Given the description of an element on the screen output the (x, y) to click on. 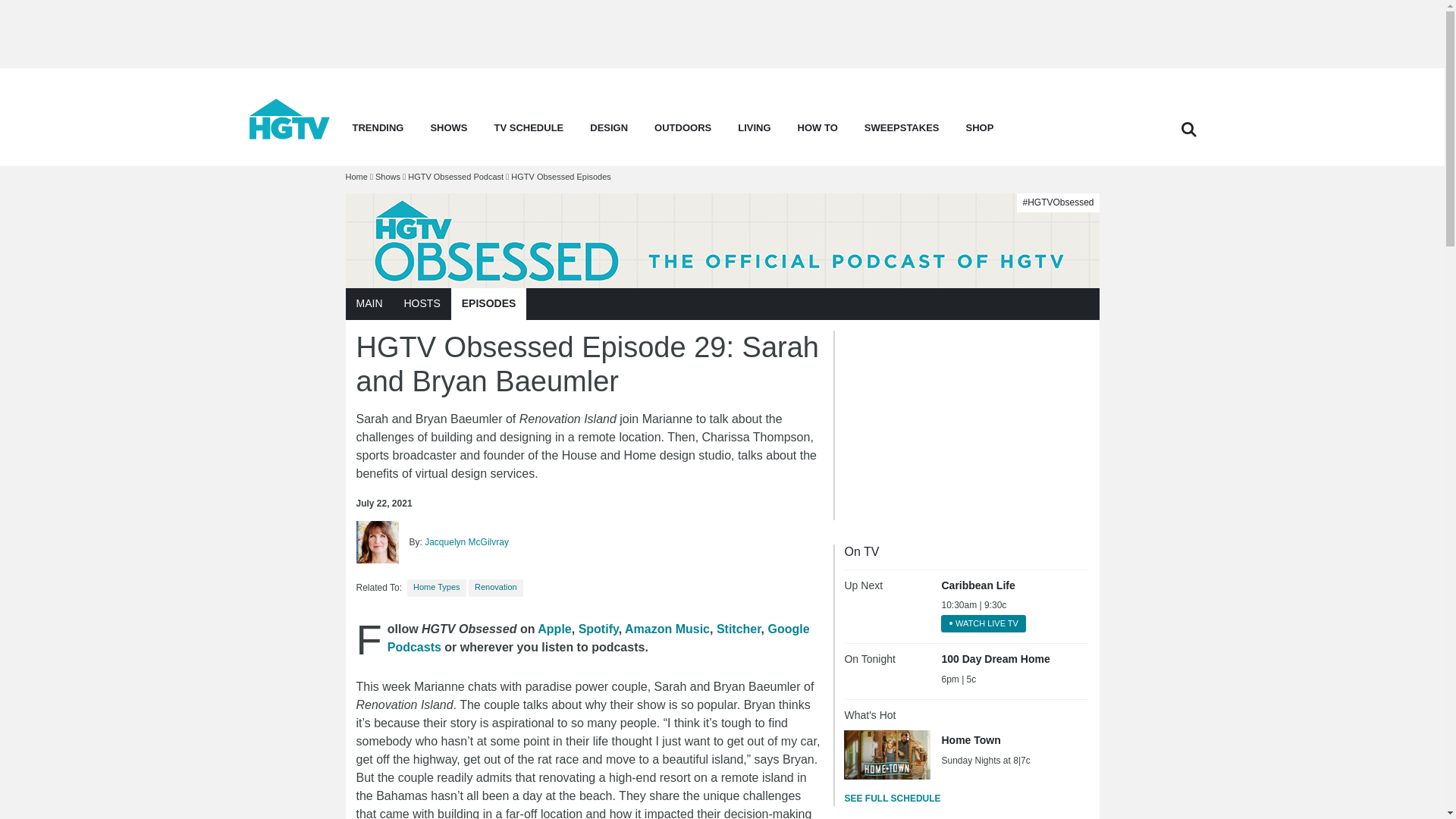
3rd party ad content (721, 33)
TV SCHEDULE (529, 132)
home (289, 135)
HGTV-Obsessed-Website (722, 240)
